Given the description of an element on the screen output the (x, y) to click on. 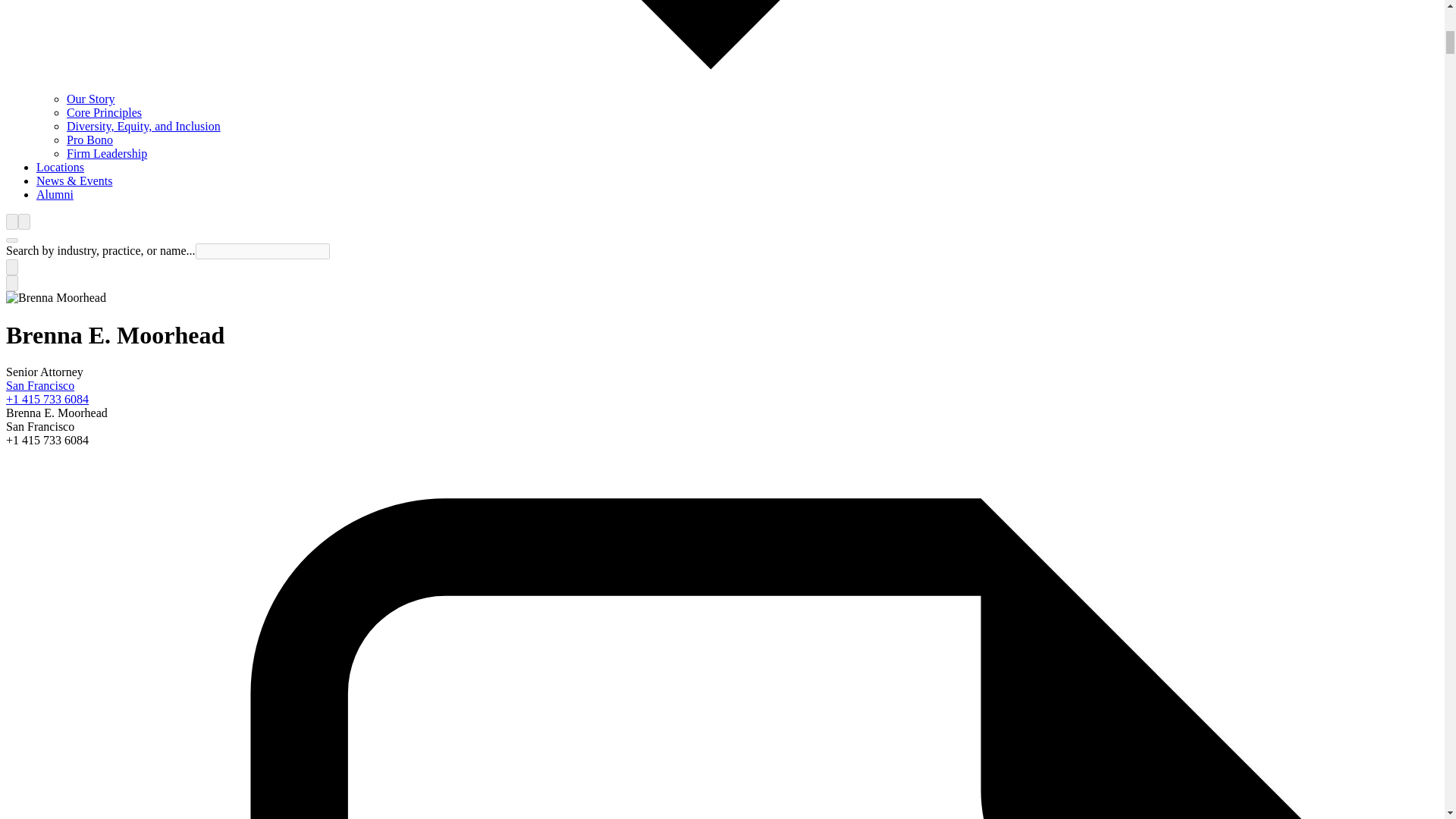
Alumni (55, 194)
Diversity, Equity, and Inclusion (143, 125)
Core Principles (103, 112)
San Francisco (39, 385)
Pro Bono (89, 139)
Our Story (90, 98)
Firm Leadership (106, 153)
Locations (60, 166)
